Given the description of an element on the screen output the (x, y) to click on. 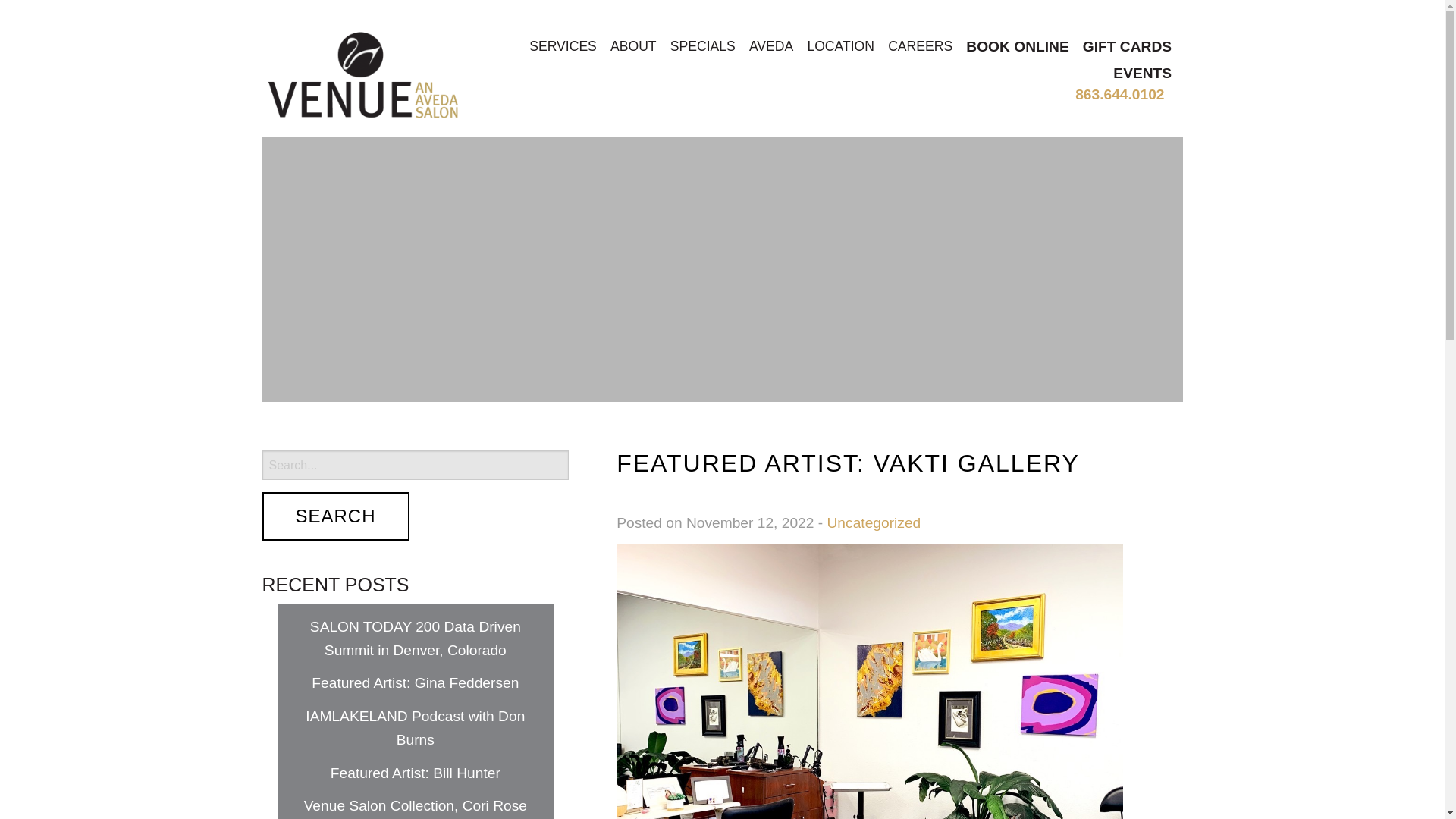
Search (335, 516)
Search (335, 516)
SERVICES (562, 45)
ABOUT (633, 45)
SPECIALS (702, 45)
